Given the description of an element on the screen output the (x, y) to click on. 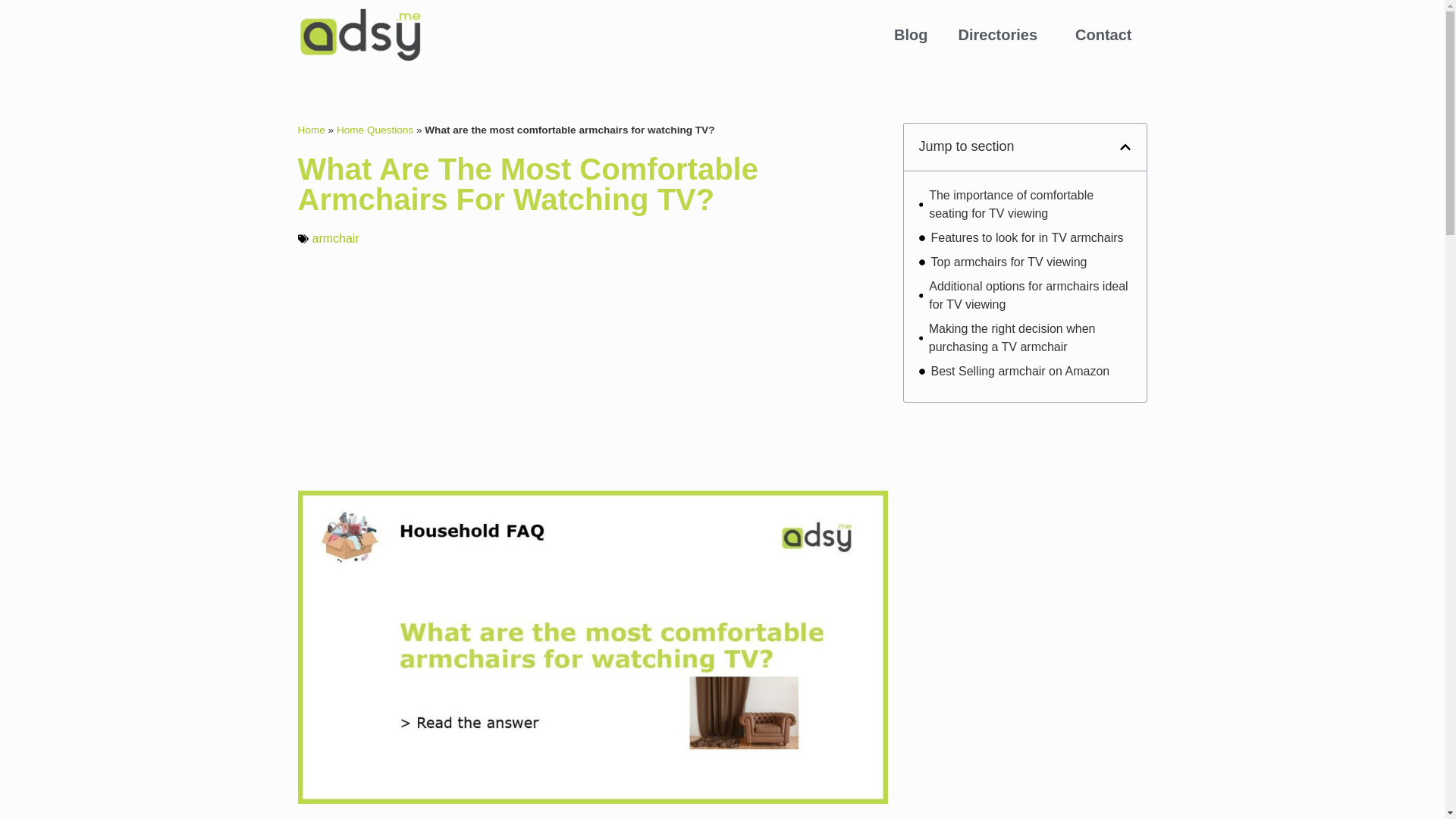
Contact (1103, 34)
Directories (1002, 34)
Advertisement (1024, 512)
Advertisement (1024, 720)
Advertisement (591, 368)
Blog (910, 34)
